Given the description of an element on the screen output the (x, y) to click on. 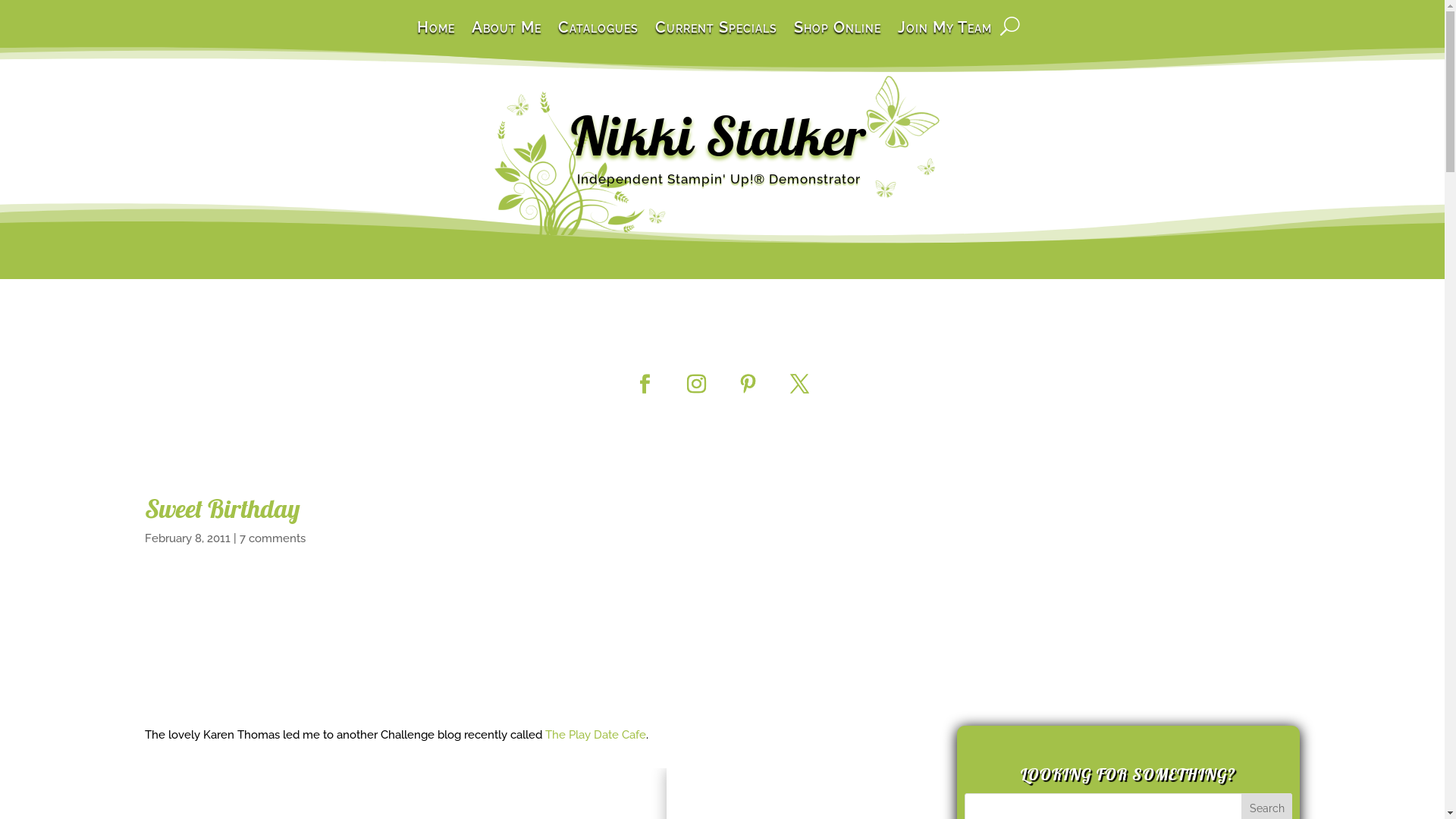
7 comments Element type: text (272, 538)
Follow on X Element type: hover (800, 384)
Follow on Pinterest Element type: hover (748, 384)
Catalogues Element type: text (598, 37)
Follow on Facebook Element type: hover (645, 384)
Shop Online Element type: text (836, 37)
Home Element type: text (436, 37)
Current Specials Element type: text (716, 37)
The Play Date Cafe Element type: text (594, 734)
Follow on Instagram Element type: hover (696, 384)
About Me Element type: text (506, 37)
Join My Team Element type: text (944, 37)
